Given the description of an element on the screen output the (x, y) to click on. 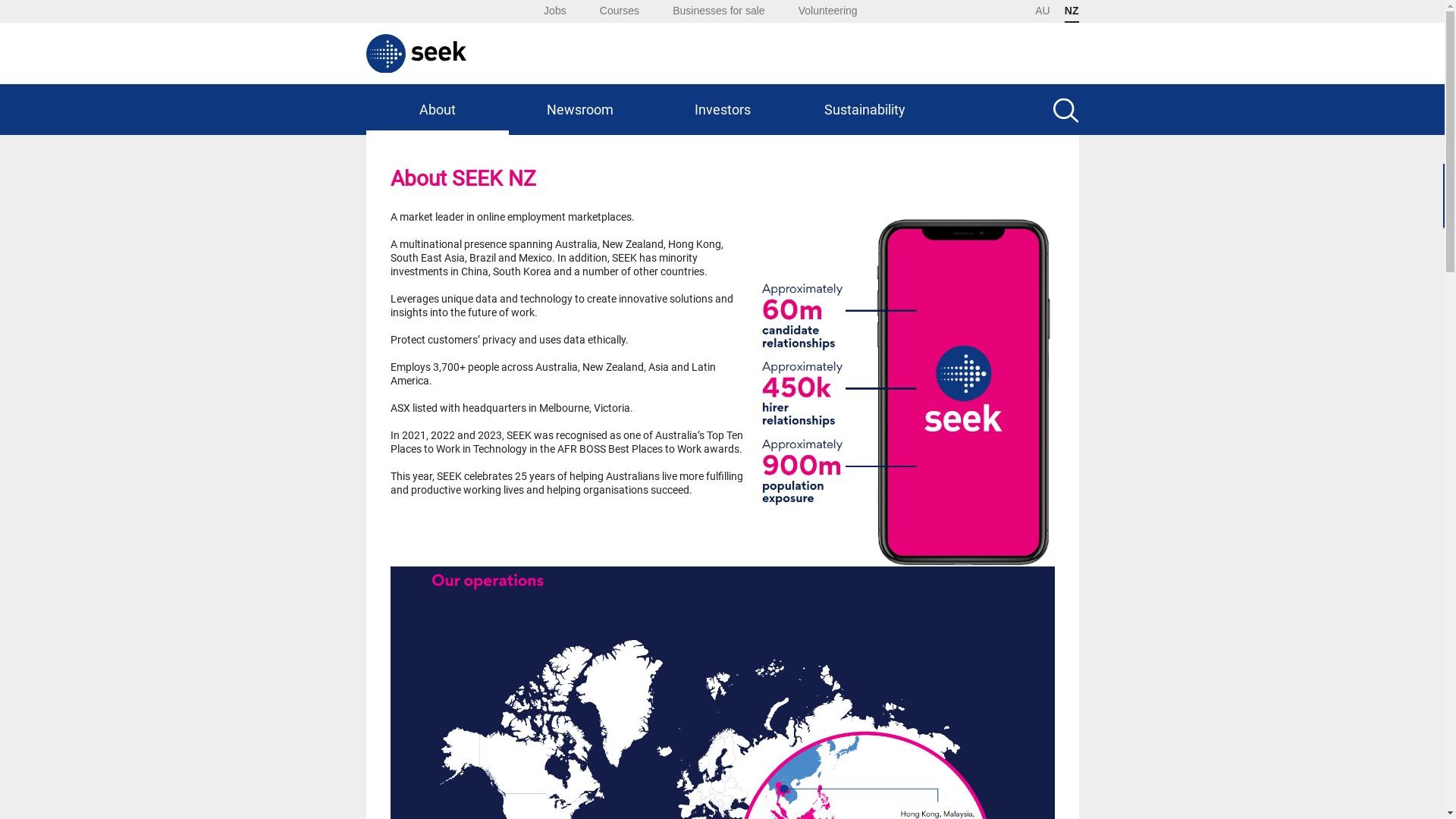
Newsroom Element type: text (579, 109)
Investors Element type: text (721, 109)
Jobs Element type: text (554, 10)
Businesses for sale Element type: text (718, 10)
AU Element type: text (1042, 10)
Sustainability Element type: text (864, 109)
Courses Element type: text (619, 10)
About Element type: text (436, 109)
Volunteering Element type: text (827, 10)
NZ Element type: text (1071, 11)
